Given the description of an element on the screen output the (x, y) to click on. 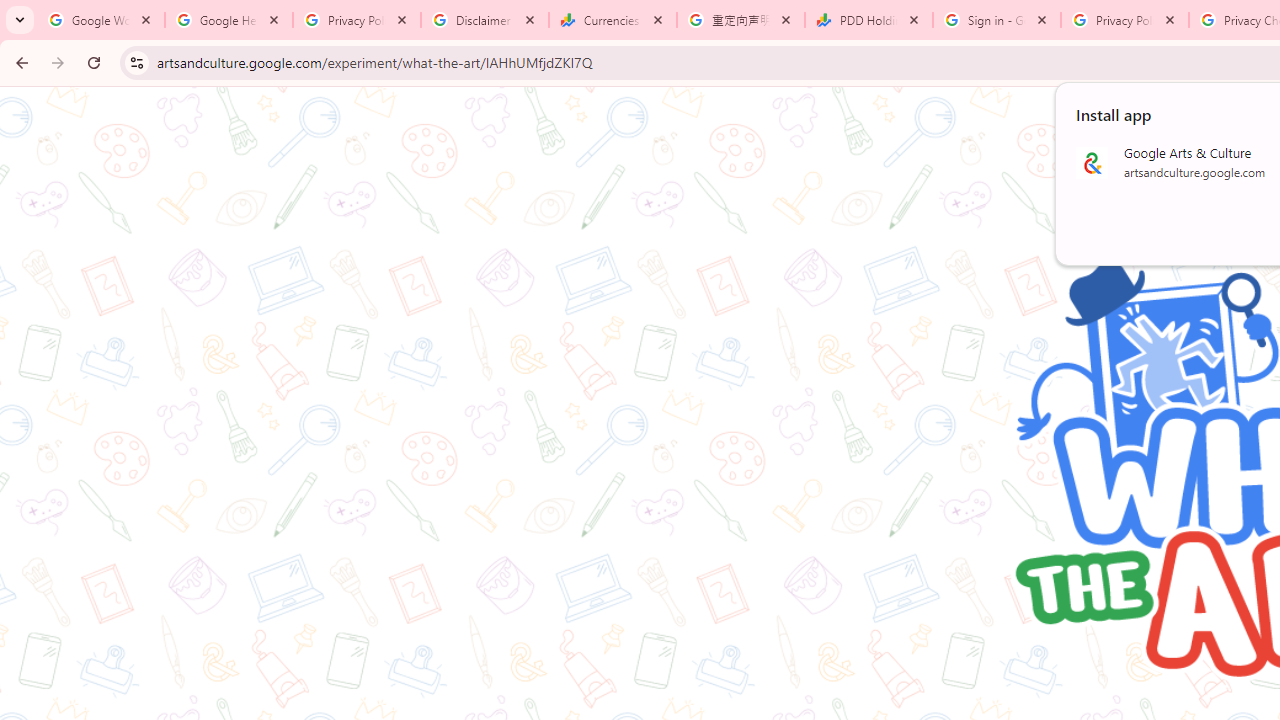
PDD Holdings Inc - ADR (PDD) Price & News - Google Finance (869, 20)
